Given the description of an element on the screen output the (x, y) to click on. 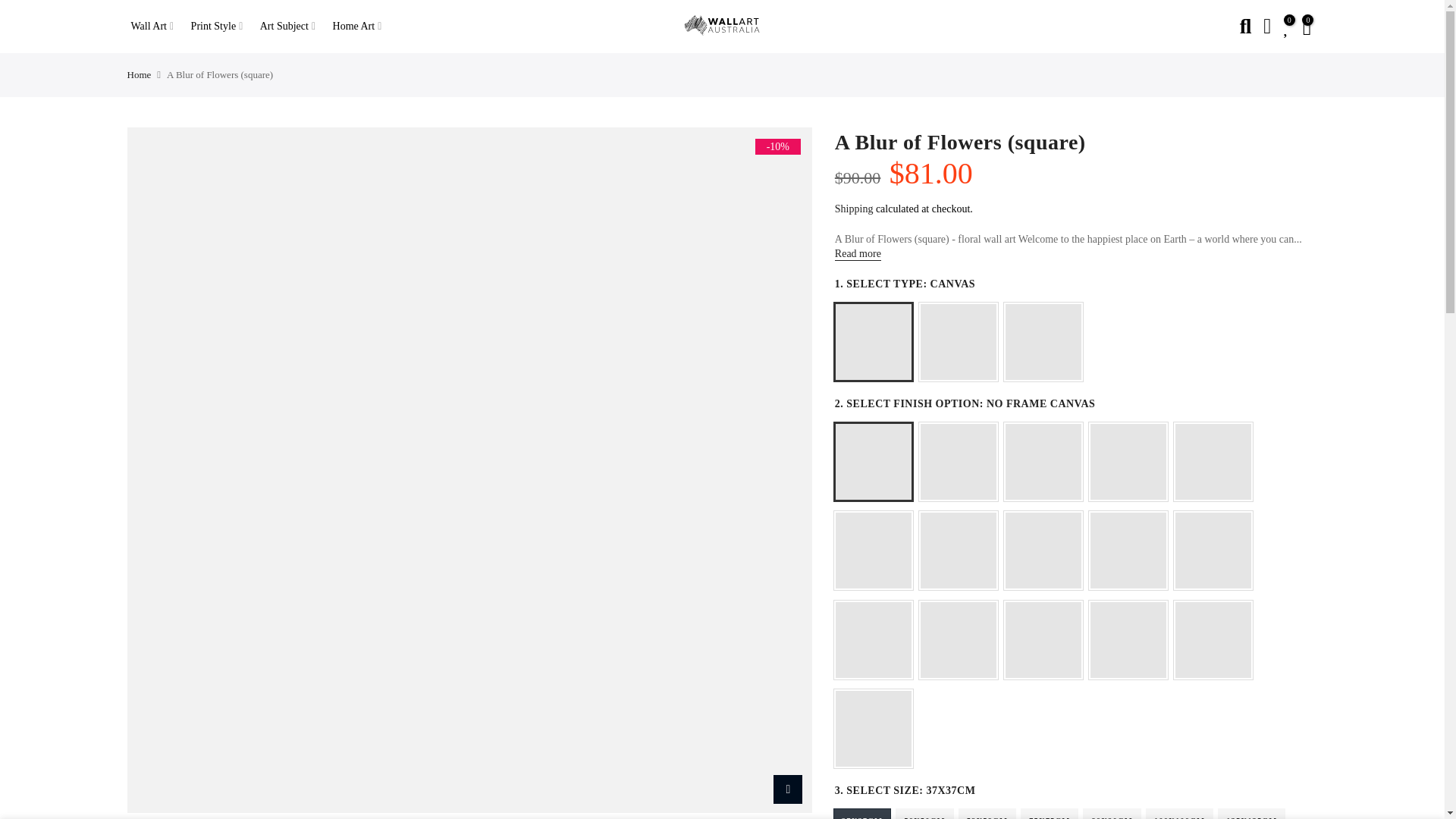
Home Art (361, 26)
Read more (1067, 262)
Art Subject (292, 26)
Wall Art (157, 26)
Shipping (853, 208)
Print Style (221, 26)
Home (139, 74)
